Given the description of an element on the screen output the (x, y) to click on. 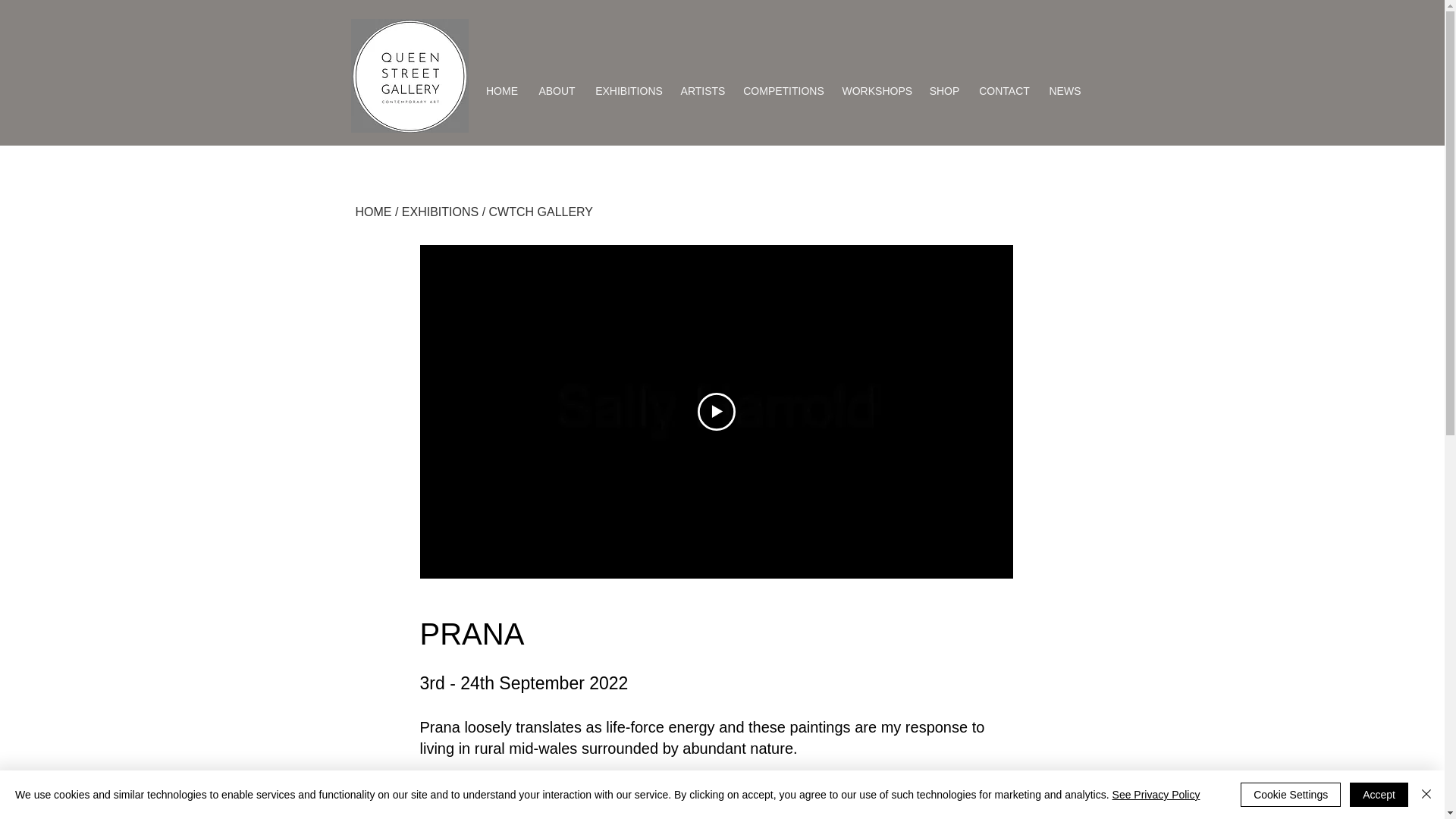
CONTACT (1005, 90)
COMPETITIONS (783, 90)
NEWS (1065, 90)
EXHIBITIONS (628, 90)
WORKSHOPS (877, 90)
SHOP (944, 90)
HOME (373, 211)
HOME (502, 90)
ARTISTS (702, 90)
ABOUT (556, 90)
